Given the description of an element on the screen output the (x, y) to click on. 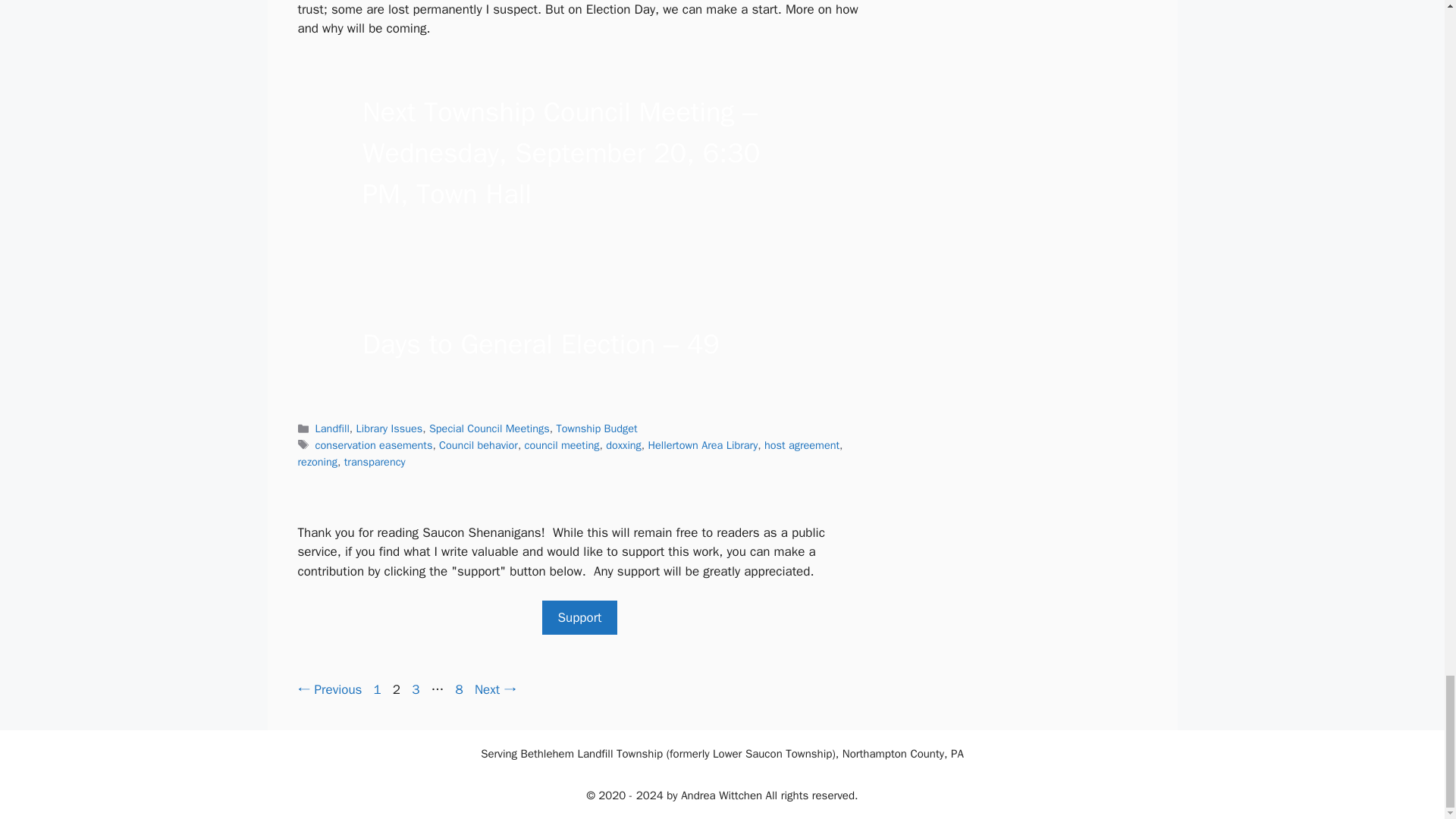
Special Council Meetings (489, 427)
council meeting (415, 689)
Support (561, 445)
Library Issues (578, 617)
host agreement (389, 427)
Hellertown Area Library (802, 445)
conservation easements (702, 445)
Landfill (373, 445)
rezoning (332, 427)
transparency (316, 461)
doxxing (374, 461)
Township Budget (623, 445)
Council behavior (596, 427)
